Given the description of an element on the screen output the (x, y) to click on. 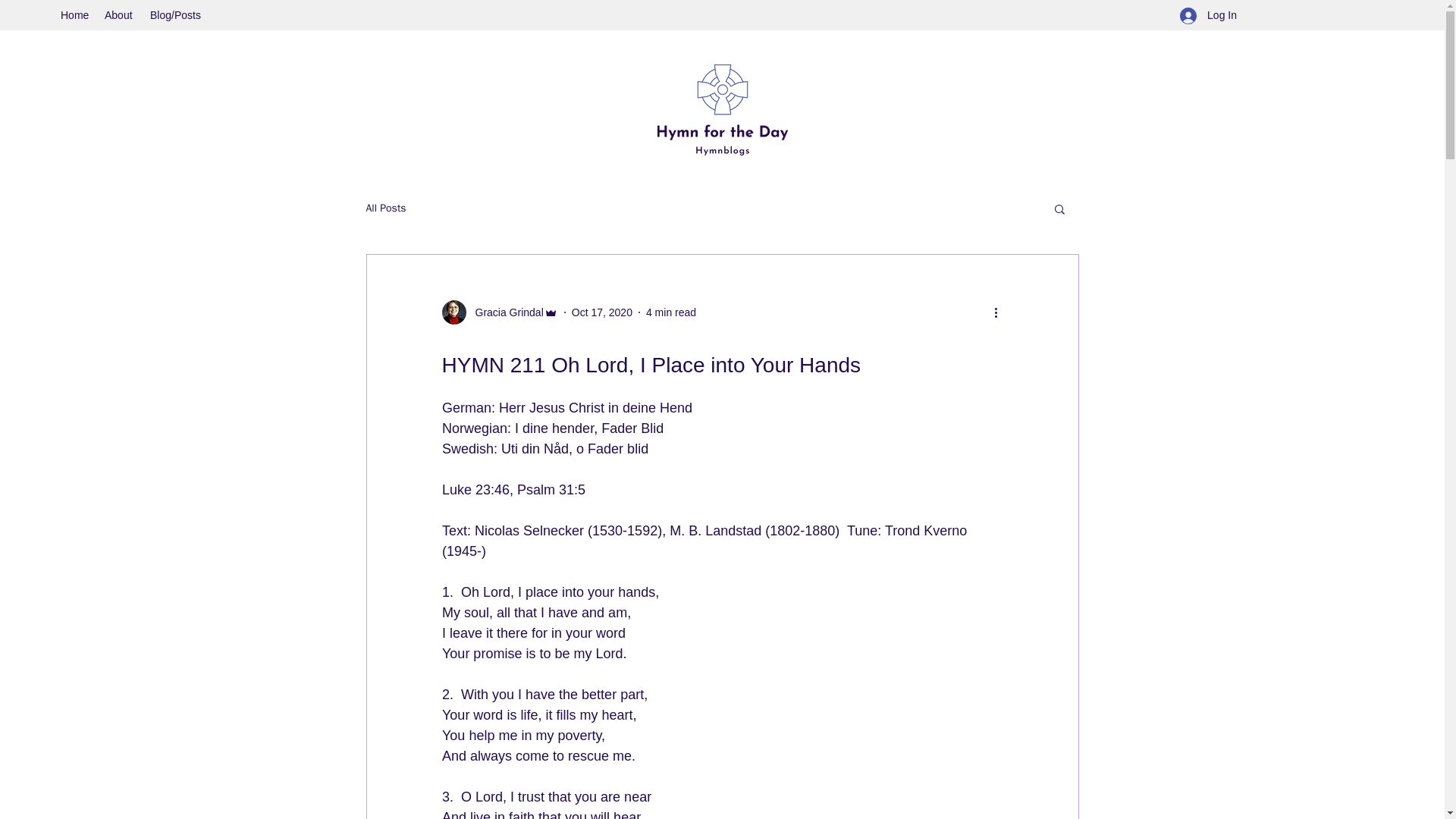
About (119, 15)
Log In (1208, 15)
Gracia Grindal (499, 312)
Gracia Grindal (504, 312)
4 min read (670, 312)
Home (74, 15)
Oct 17, 2020 (601, 312)
All Posts (385, 208)
